Given the description of an element on the screen output the (x, y) to click on. 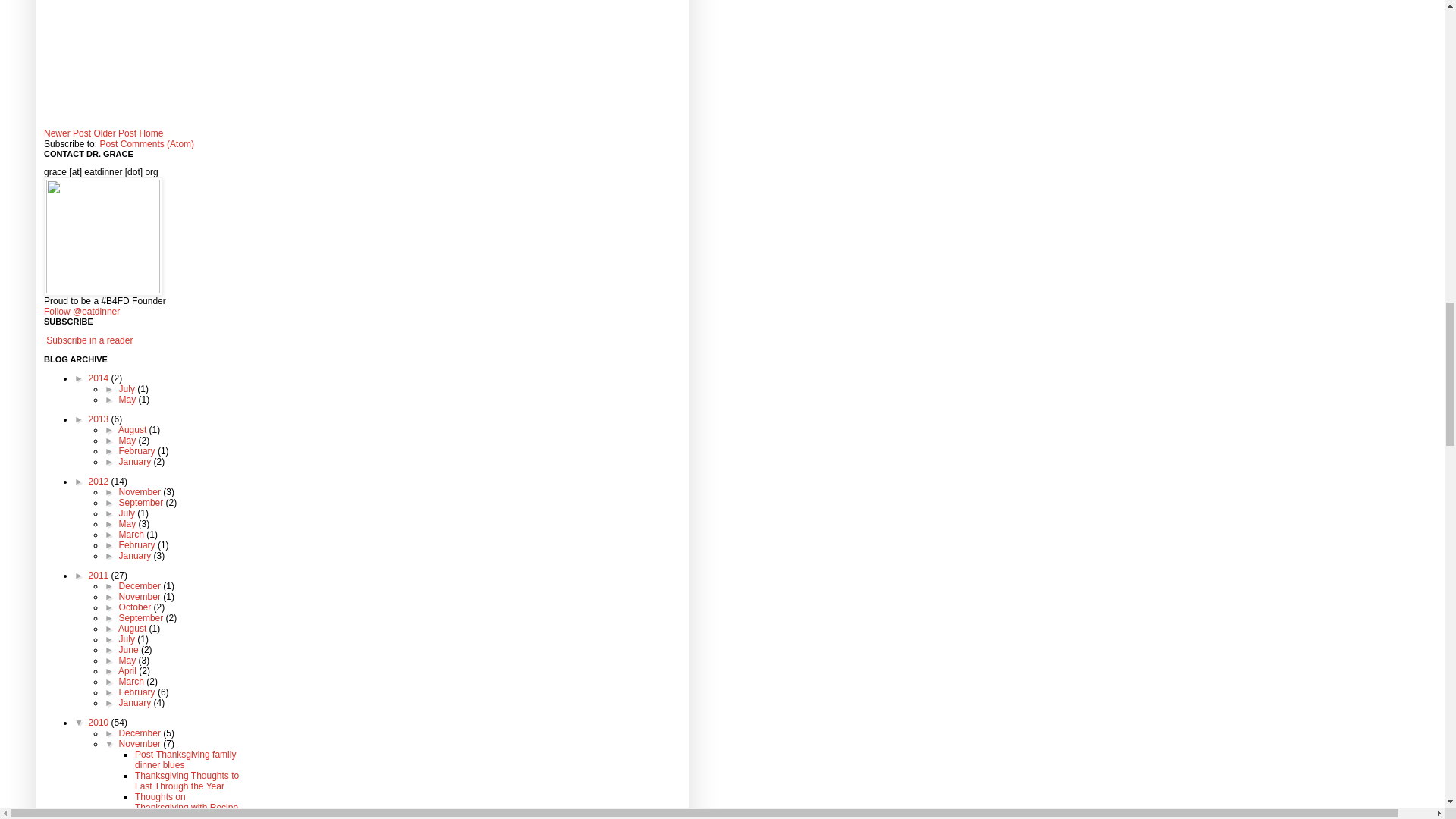
Newer Post (66, 132)
Older Post (114, 132)
Newer Post (66, 132)
Home (150, 132)
Older Post (114, 132)
